Given the description of an element on the screen output the (x, y) to click on. 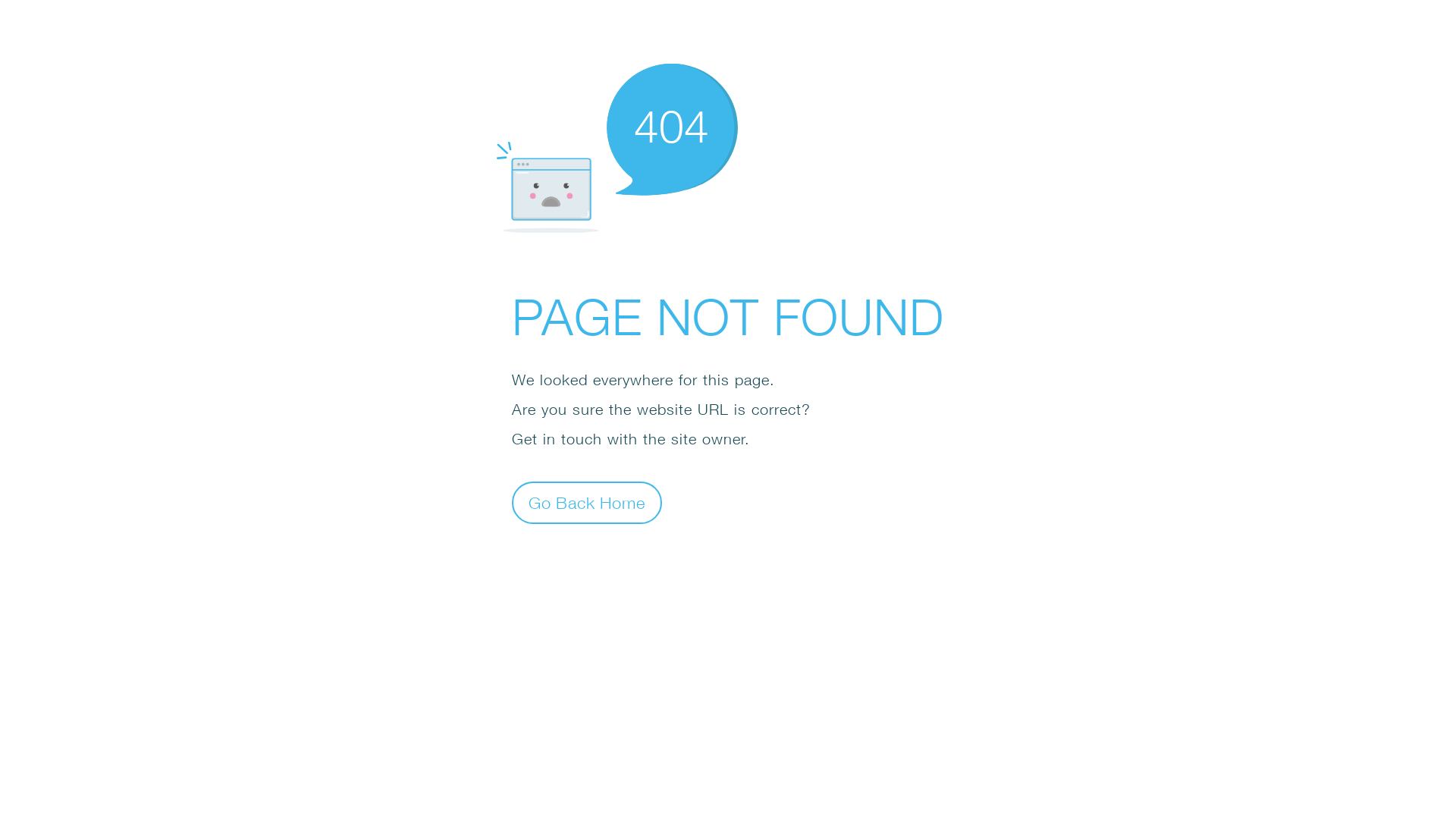
Go Back Home Element type: text (586, 502)
